Given the description of an element on the screen output the (x, y) to click on. 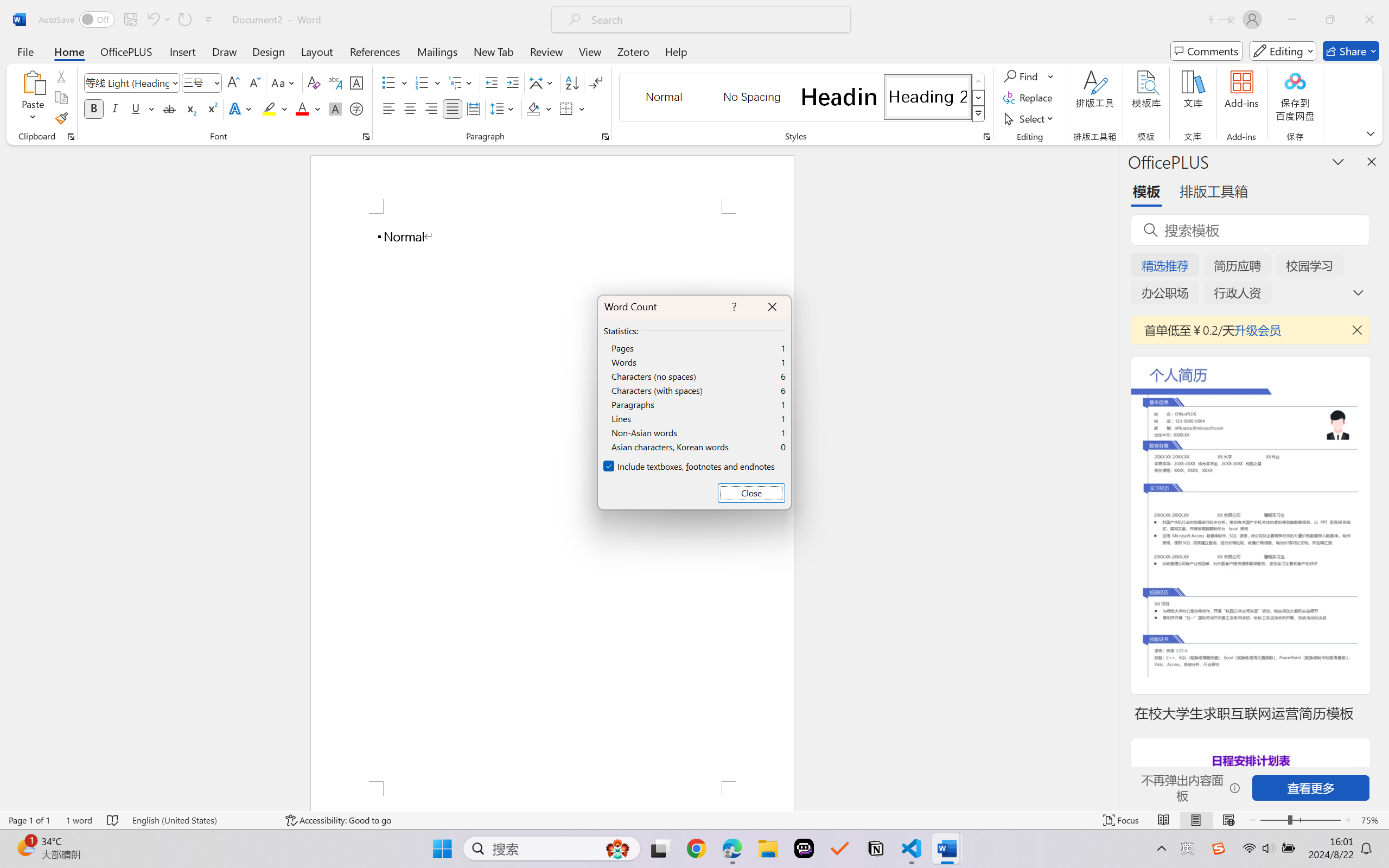
Font (126, 82)
Superscript (210, 108)
Minimize (1291, 19)
Class: NetUIScrollBar (1111, 477)
Design (268, 51)
Accessibility Checker Accessibility: Good to go (338, 819)
Notion (875, 848)
Save (130, 19)
Format Painter (60, 118)
